Given the description of an element on the screen output the (x, y) to click on. 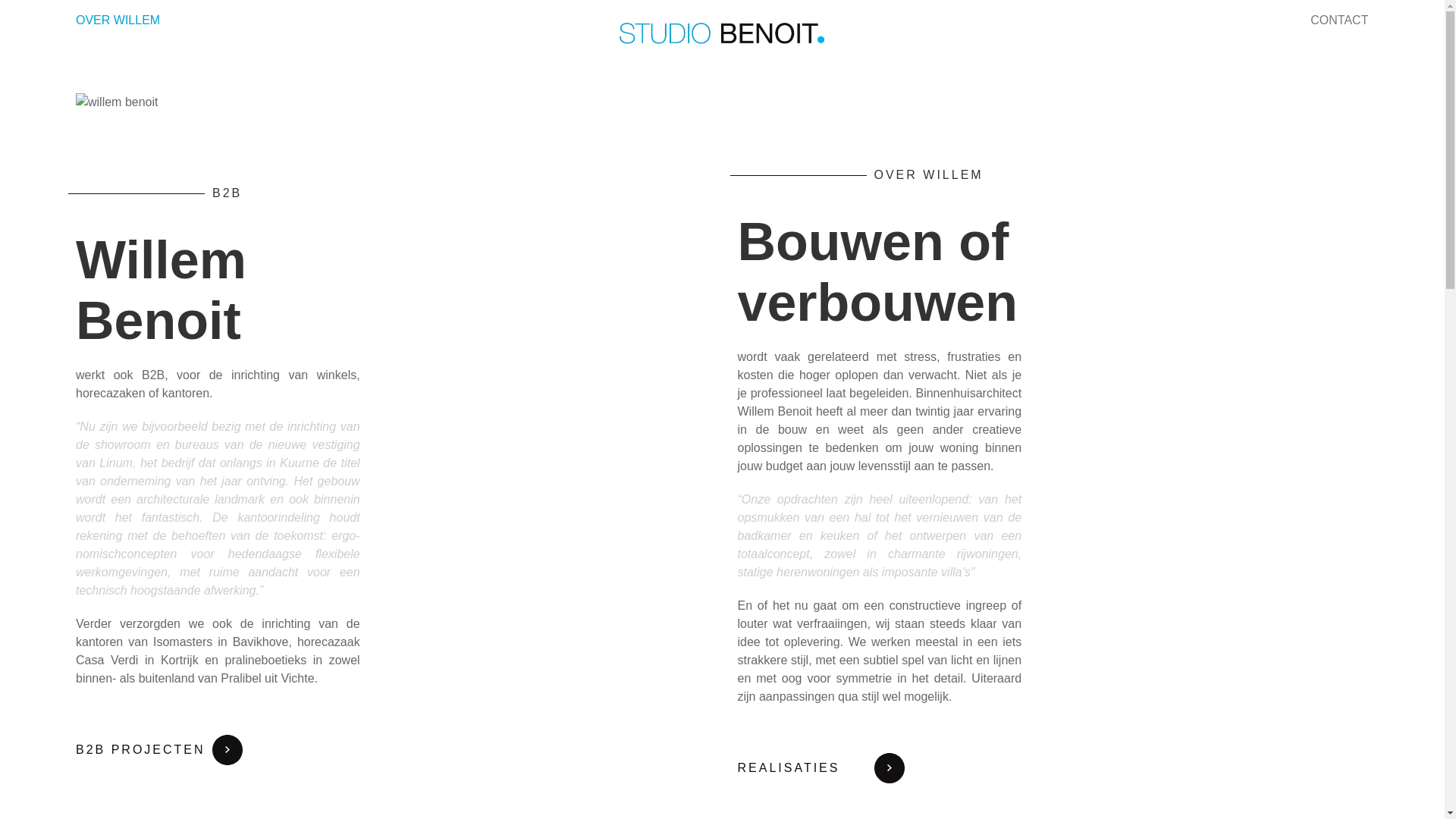
REALISATIES Element type: text (820, 768)
CONTACT Element type: text (1339, 19)
B2B PROJECTEN Element type: text (158, 749)
